Given the description of an element on the screen output the (x, y) to click on. 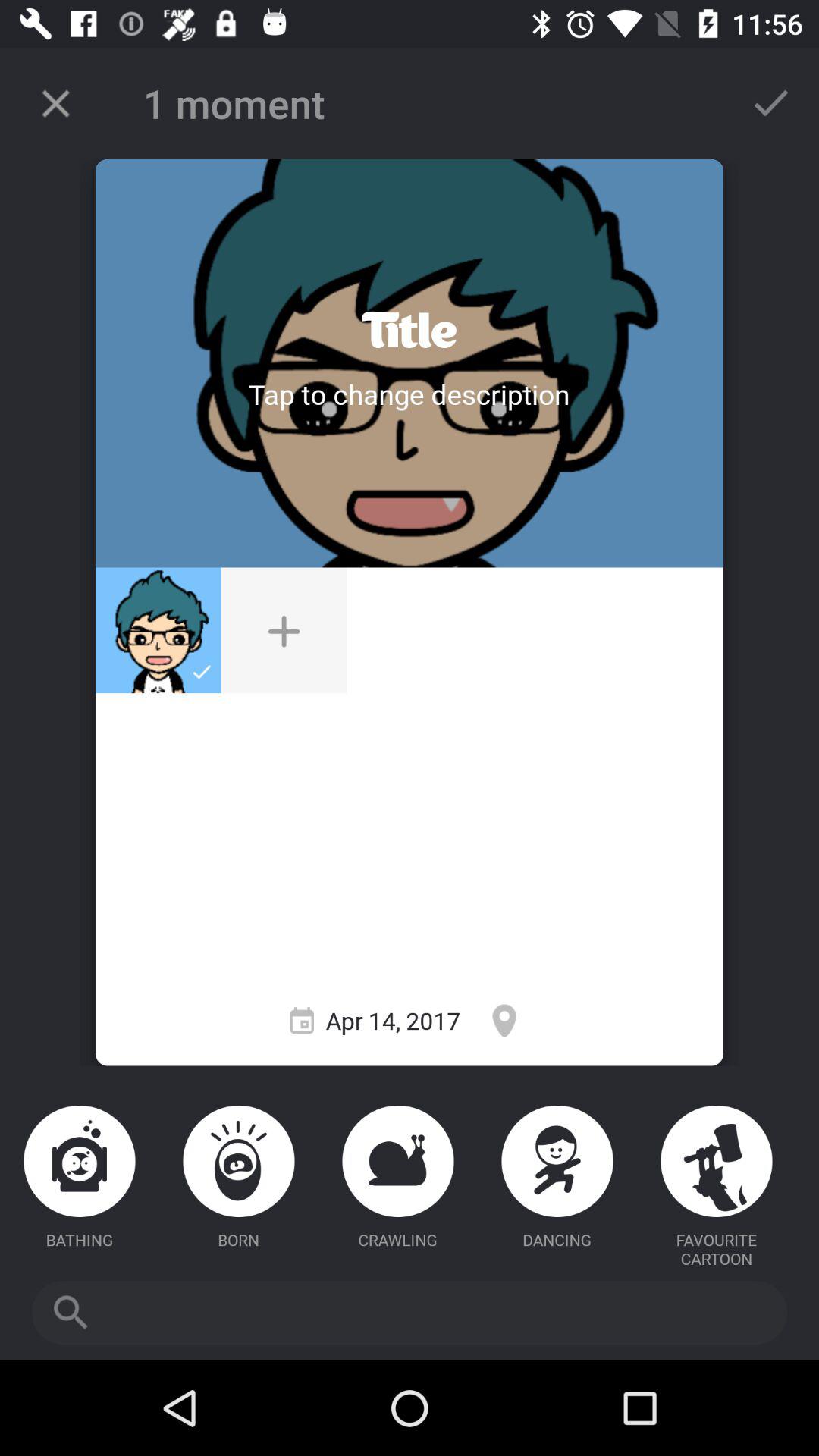
type search word (409, 1312)
